Given the description of an element on the screen output the (x, y) to click on. 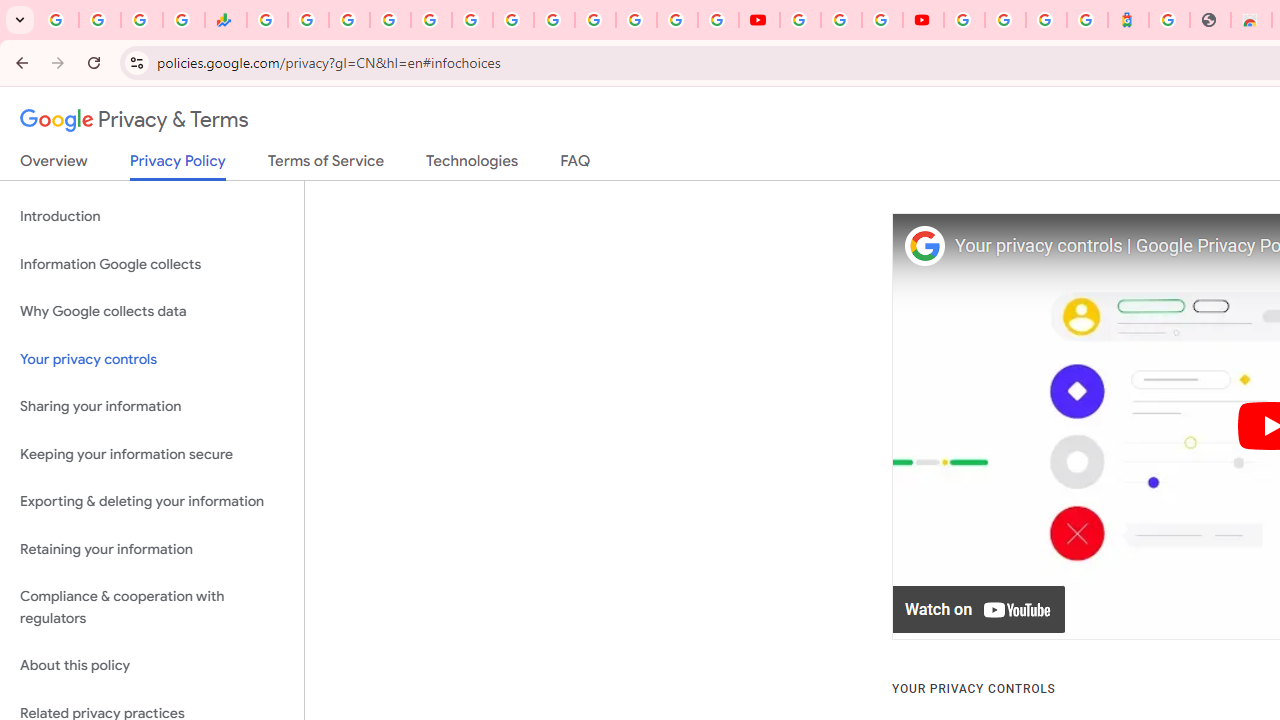
Google Account Help (840, 20)
Sign in - Google Accounts (676, 20)
Atour Hotel - Google hotels (1128, 20)
YouTube (553, 20)
Create your Google Account (881, 20)
